Given the description of an element on the screen output the (x, y) to click on. 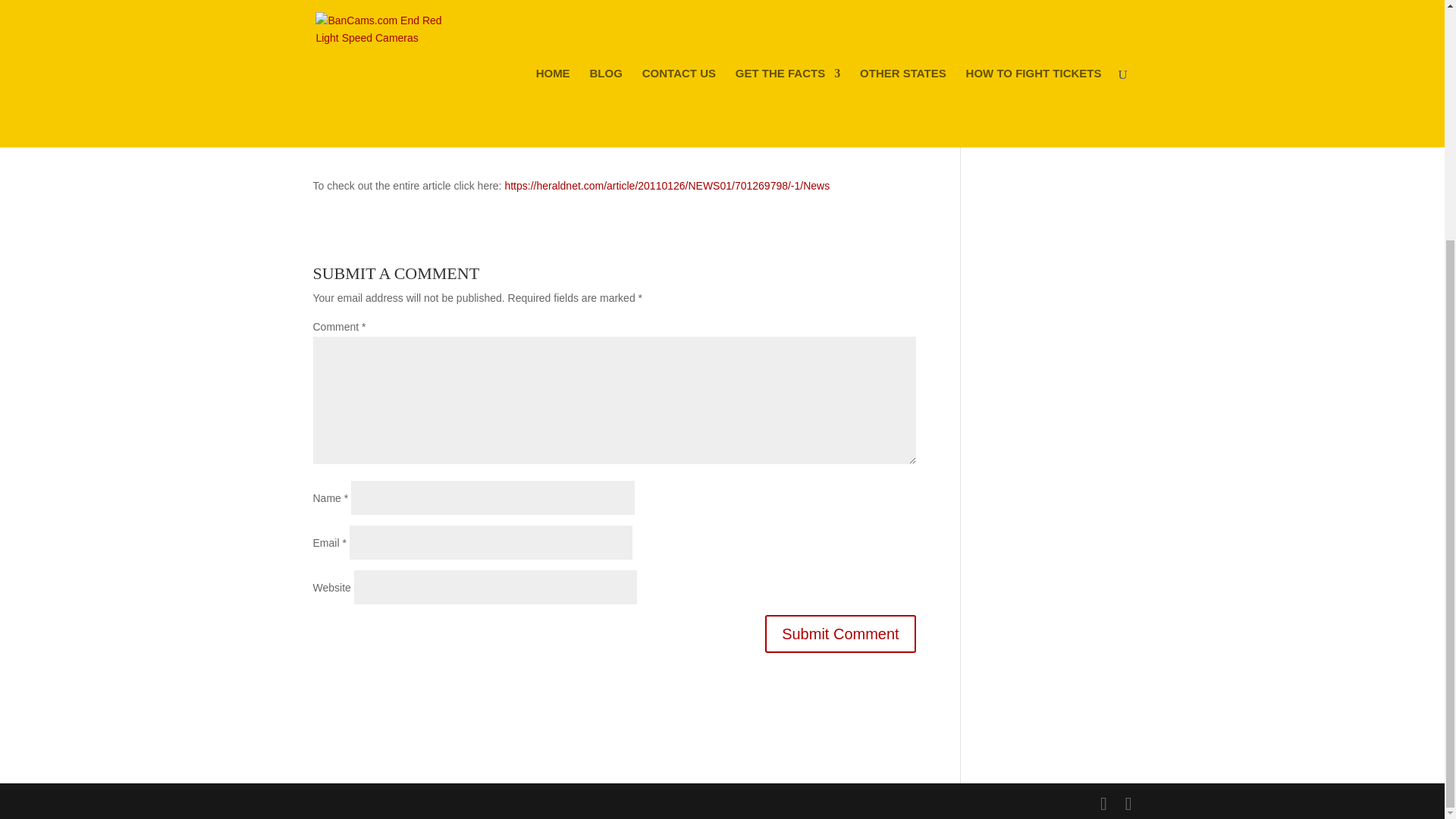
Fullscreen capture 1262011 115424 AM (426, 92)
Submit Comment (840, 633)
Submit Comment (840, 633)
